Given the description of an element on the screen output the (x, y) to click on. 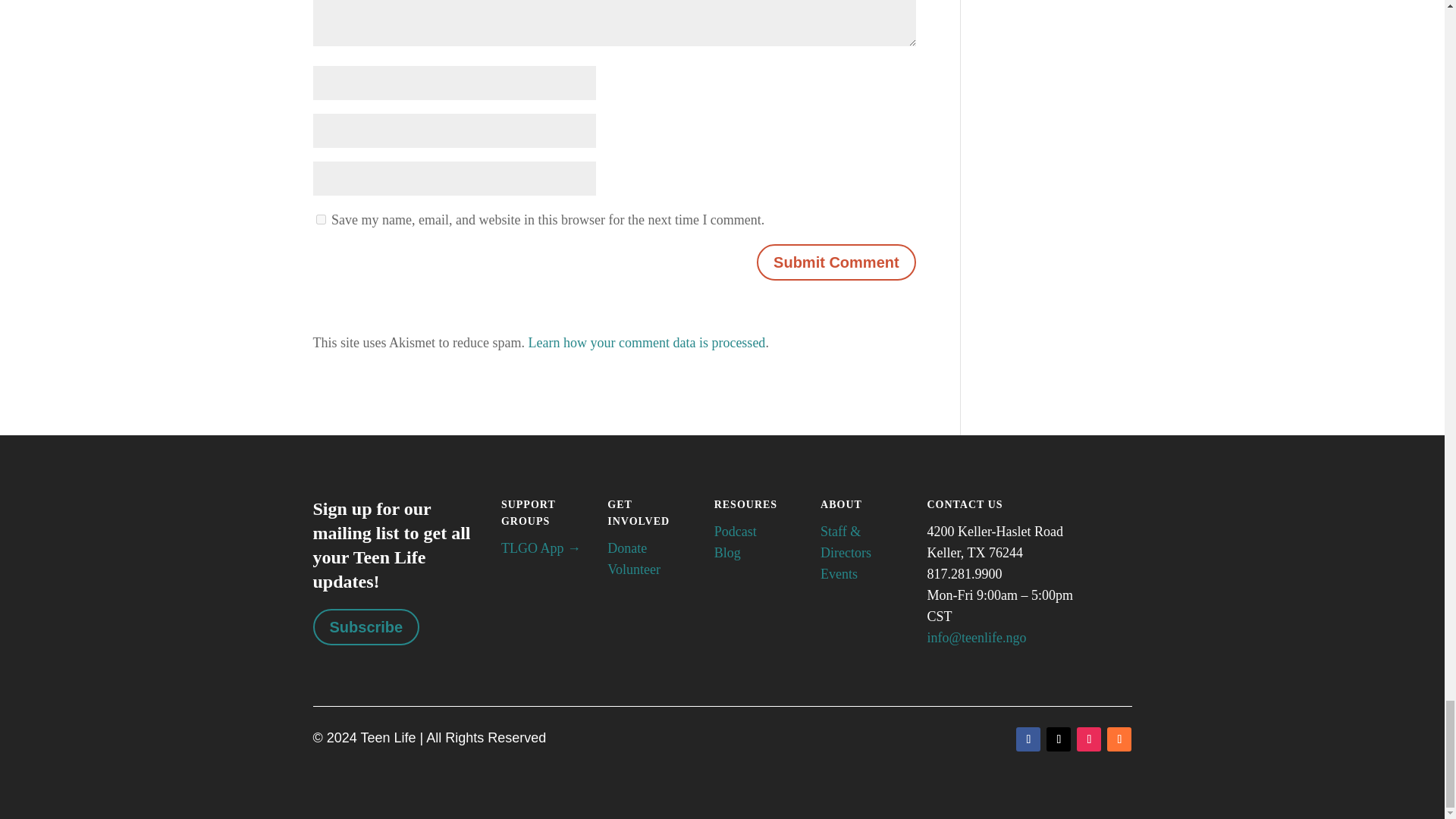
yes (319, 219)
Submit Comment (836, 262)
